Given the description of an element on the screen output the (x, y) to click on. 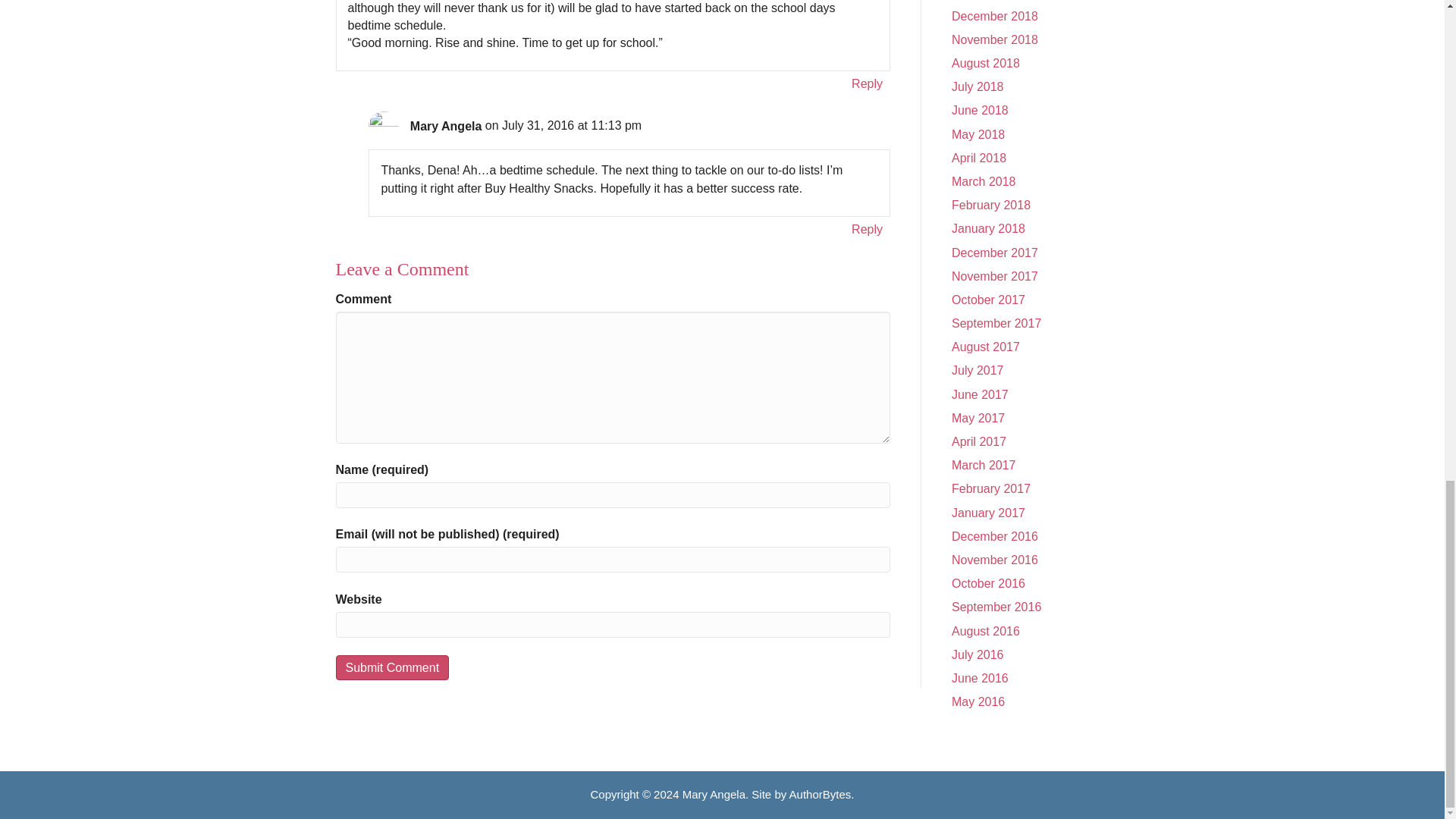
Reply (866, 229)
Submit Comment (391, 667)
Reply (866, 83)
Submit Comment (391, 667)
